Given the description of an element on the screen output the (x, y) to click on. 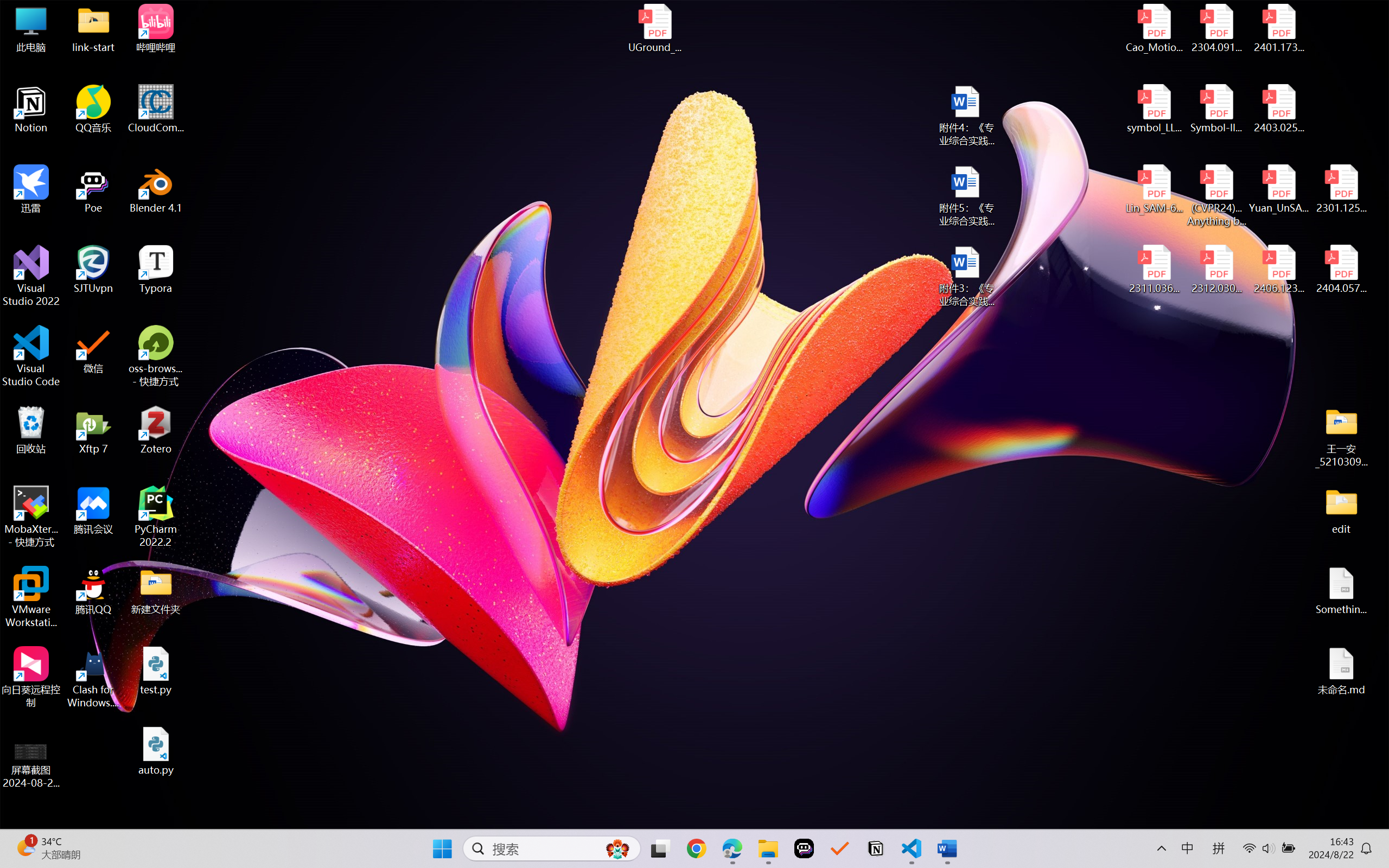
edit (1340, 510)
Google Chrome (696, 848)
2311.03658v2.pdf (1154, 269)
Visual Studio Code (31, 355)
SJTUvpn (93, 269)
